Given the description of an element on the screen output the (x, y) to click on. 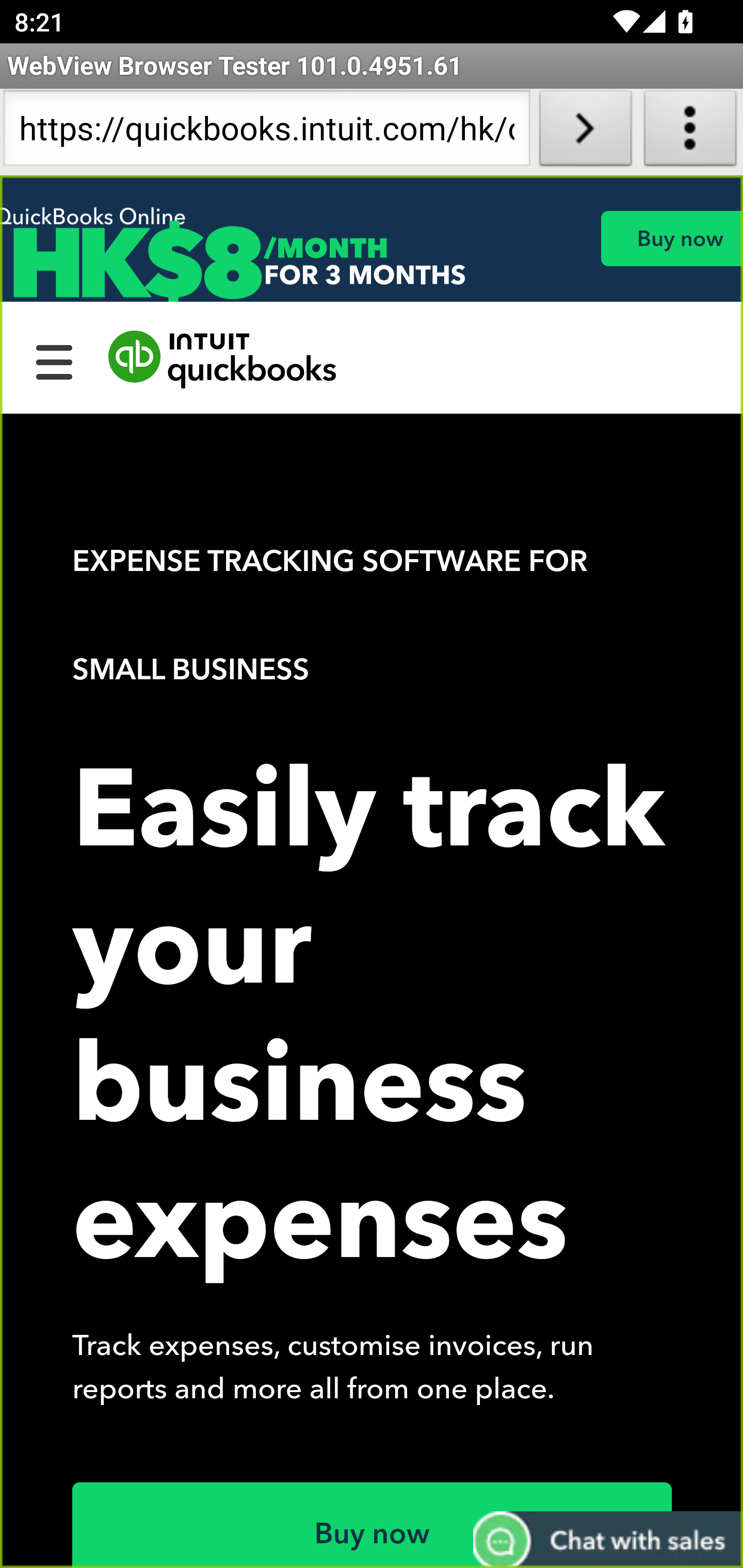
Load URL (585, 132)
About WebView (690, 132)
Buy now (671, 238)
quickbooks-mobile-burger (54, 359)
quickbooks (222, 359)
Buy now (372, 1524)
